Given the description of an element on the screen output the (x, y) to click on. 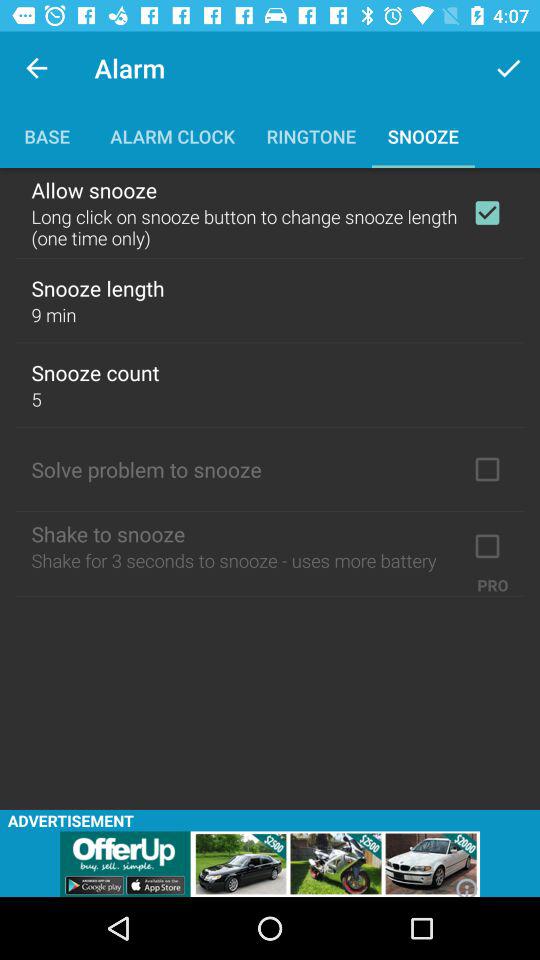
go to advertisement website (270, 864)
